Given the description of an element on the screen output the (x, y) to click on. 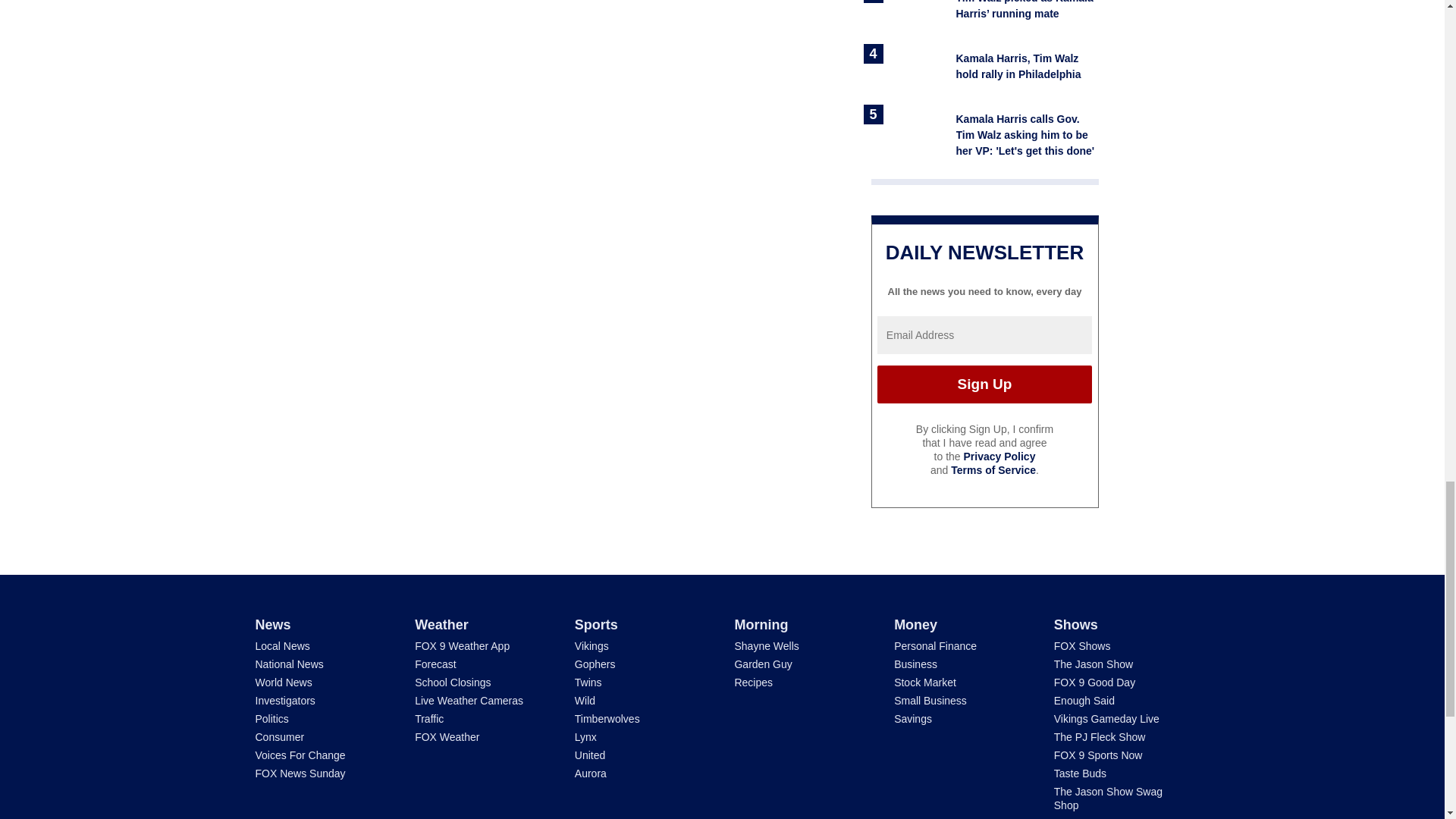
Sign Up (984, 384)
